Given the description of an element on the screen output the (x, y) to click on. 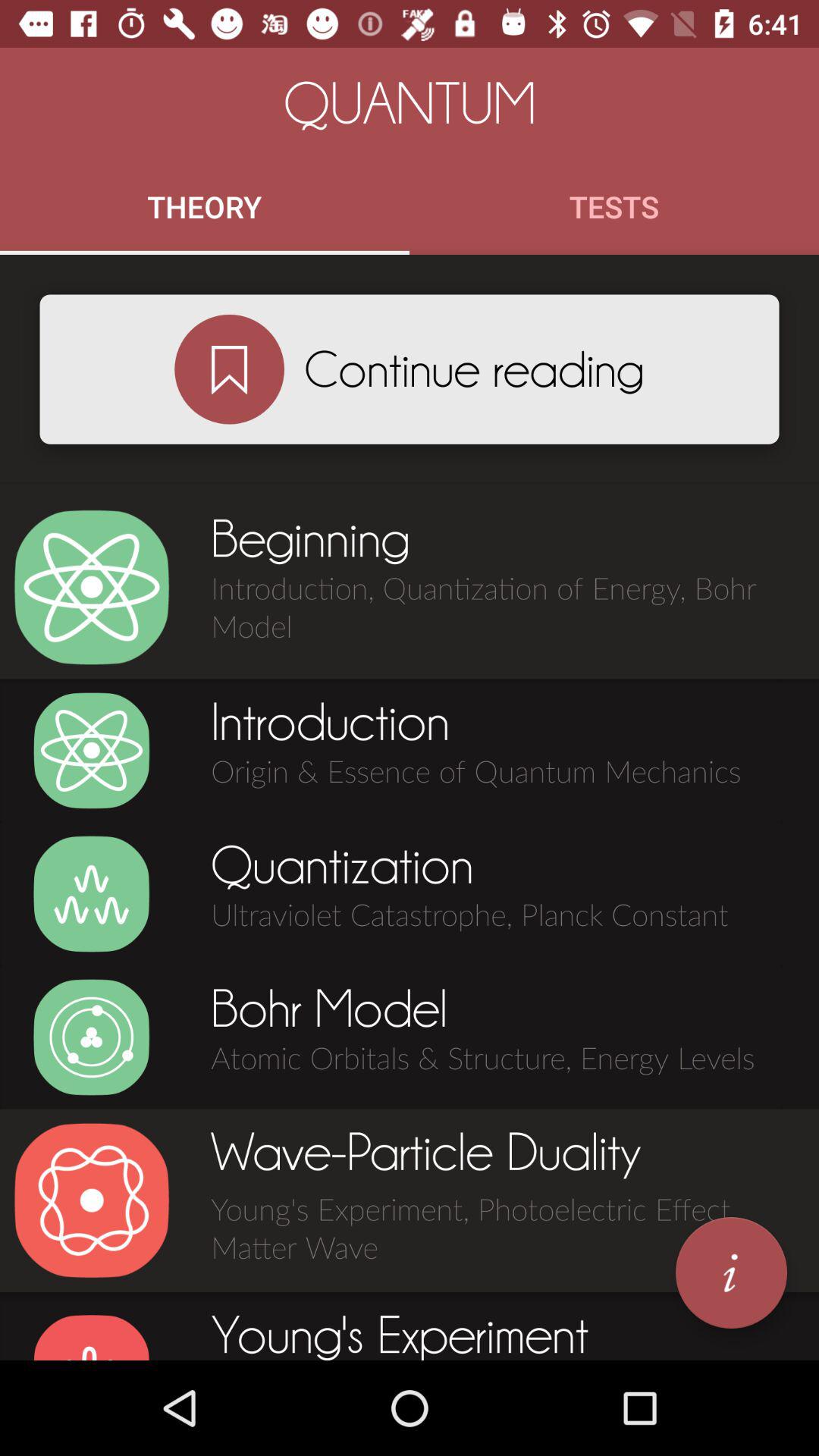
bookmark page (229, 369)
